Given the description of an element on the screen output the (x, y) to click on. 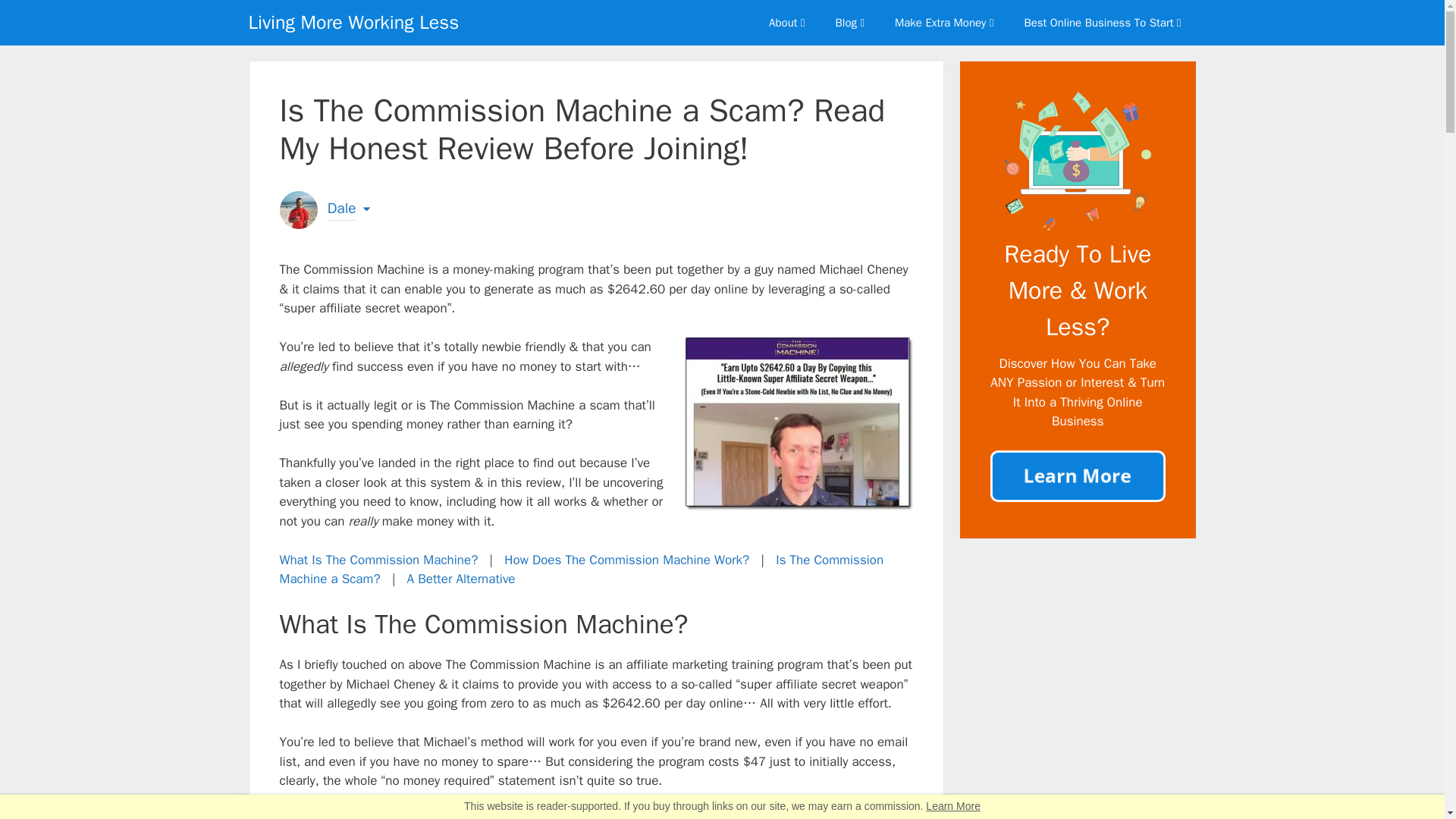
How Does The Commission Machine Work? (626, 560)
What Is The Commission Machine? (378, 560)
Is The Commission Machine a Scam? (581, 570)
Living More Working Less (354, 22)
A Better Alternative (461, 578)
